Given the description of an element on the screen output the (x, y) to click on. 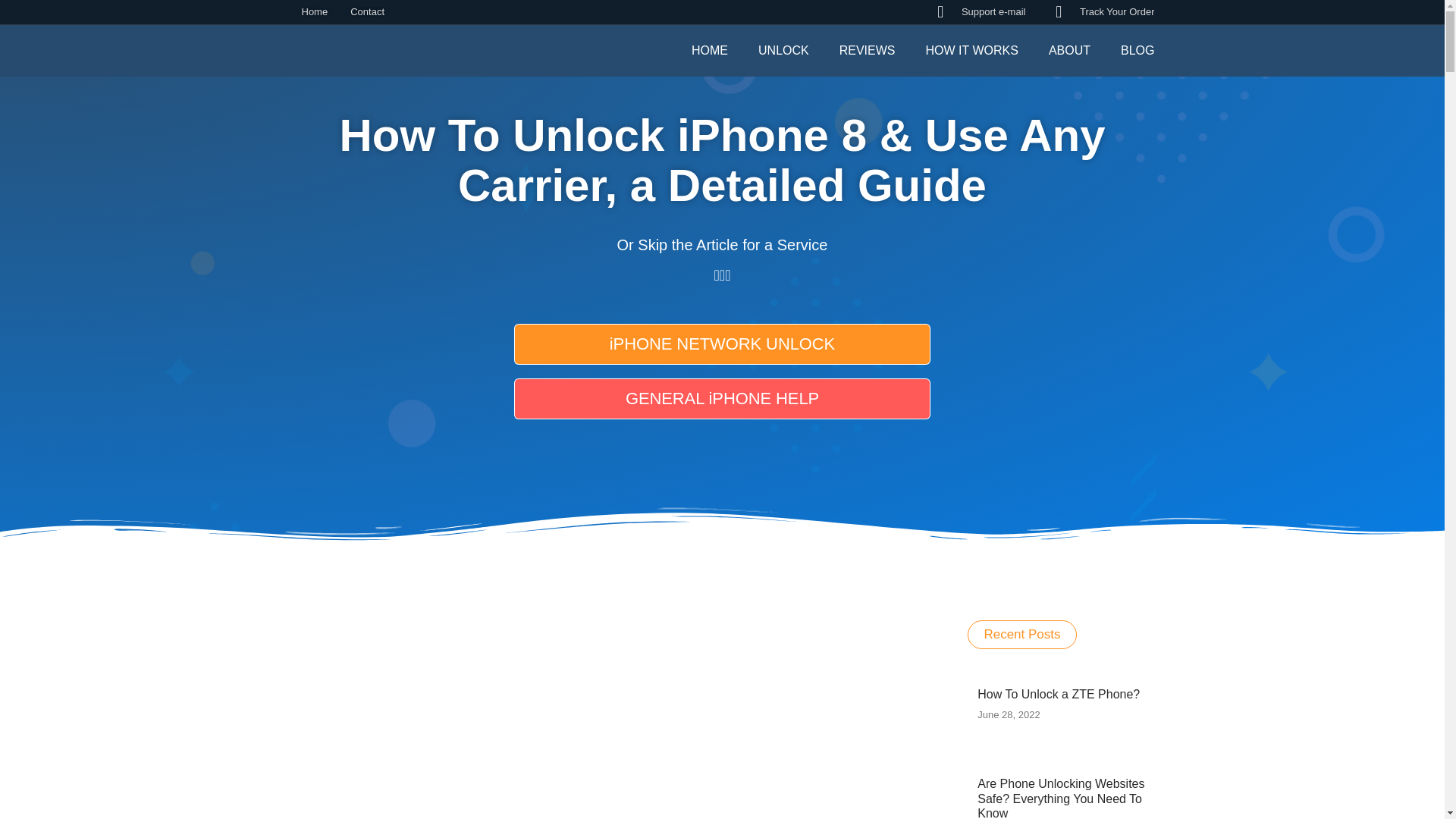
REVIEWS (867, 50)
Support e-mail (977, 12)
UNLOCK (783, 50)
Track Your Order (1101, 12)
BLOG (1137, 50)
ABOUT (1069, 50)
Contact (363, 11)
iPHONE NETWORK UNLOCK (722, 343)
Home (311, 11)
GENERAL iPHONE HELP (722, 398)
HOW IT WORKS (971, 50)
HOME (709, 50)
